Given the description of an element on the screen output the (x, y) to click on. 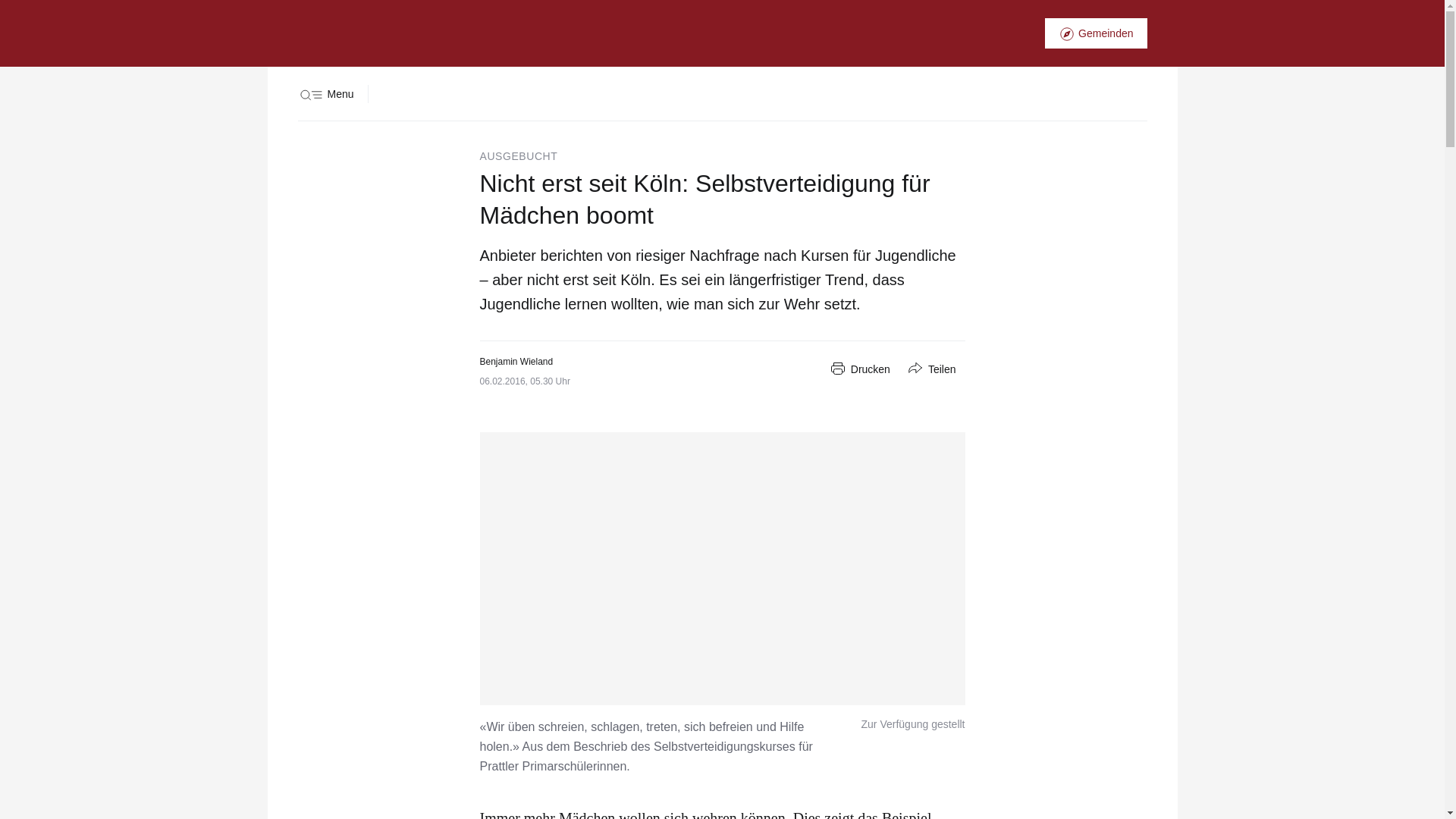
Gemeinden Element type: text (1095, 33)
Menu Element type: text (325, 93)
